Given the description of an element on the screen output the (x, y) to click on. 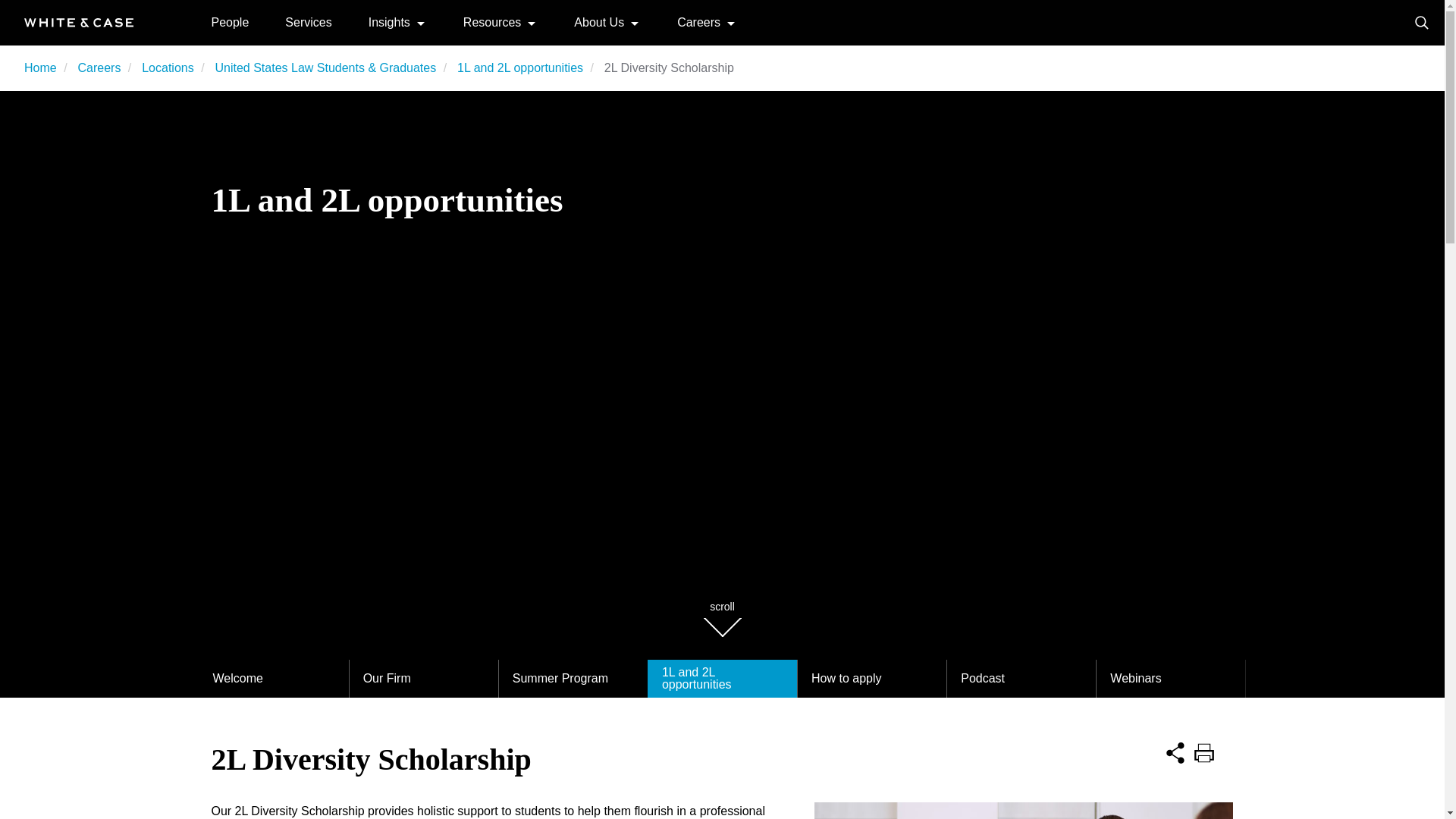
Print this page (1203, 750)
Careers (98, 67)
Services (308, 21)
1L and 2L opportunities (520, 67)
Home (78, 22)
Careers (698, 21)
Home (40, 67)
Share this Page (1175, 750)
Insights (389, 21)
Resources (492, 21)
